Given the description of an element on the screen output the (x, y) to click on. 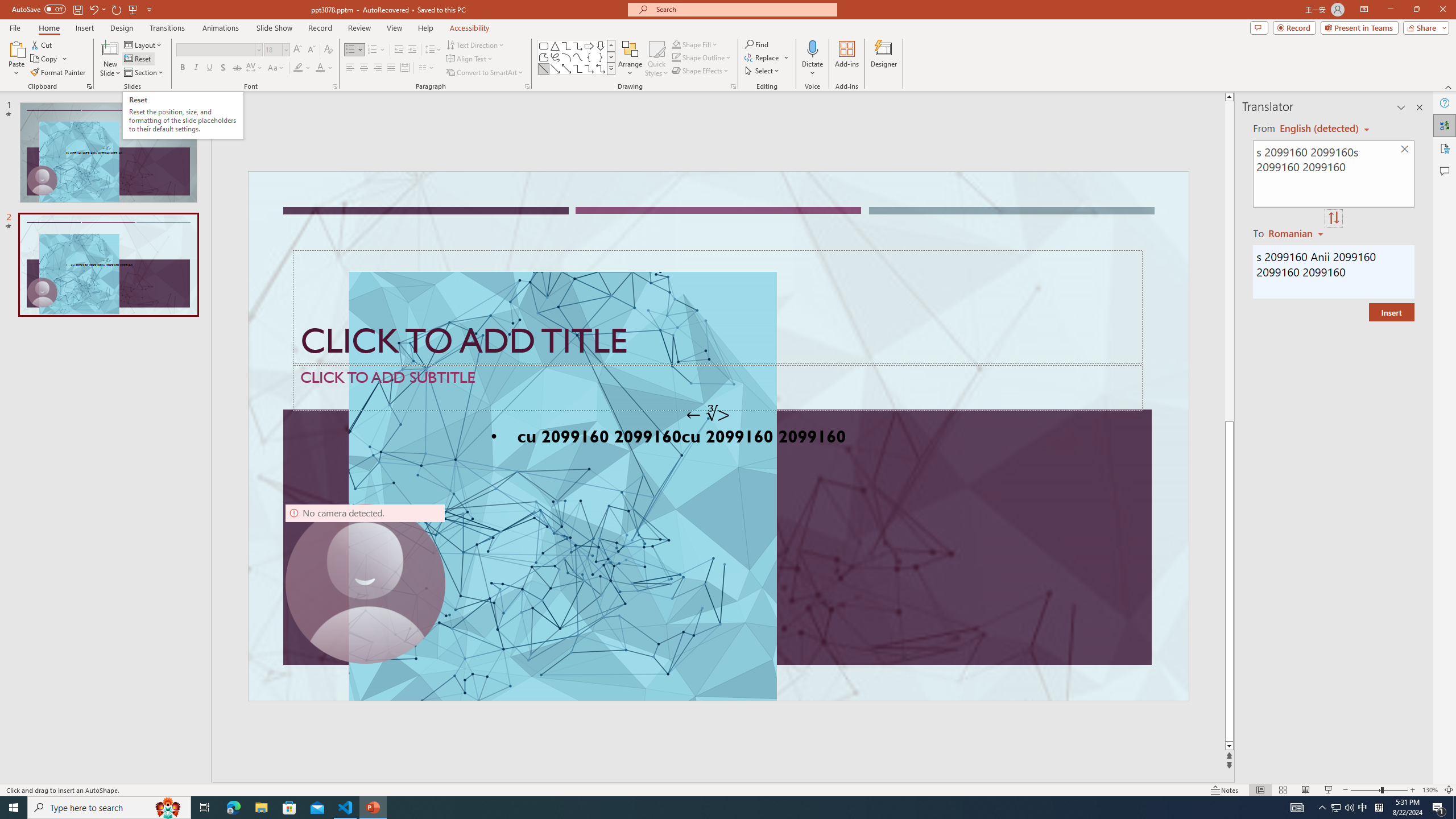
Copilot (Ctrl+Shift+.) (1434, 46)
Transformer Circuits Thread (713, 78)
Go Back (Alt+LeftArrow) (600, 150)
json2jsonl.py (622, 183)
